Given the description of an element on the screen output the (x, y) to click on. 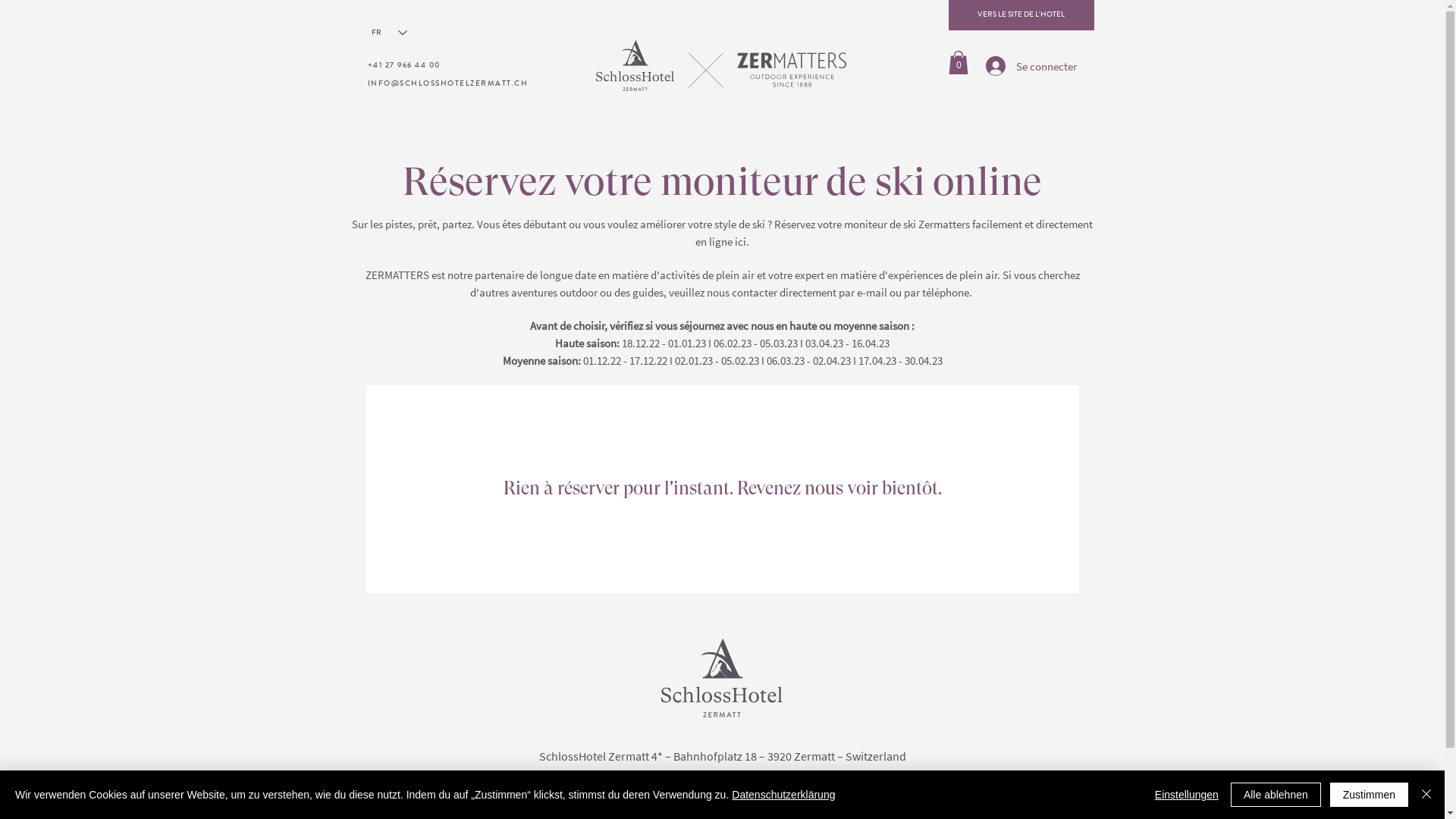
Zustimmen Element type: text (1369, 794)
0 Element type: text (957, 62)
info@schlosshotelzermatt.ch Element type: text (762, 775)
Alle ablehnen Element type: text (1275, 794)
VERS LE SITE DE L'HOTEL Element type: text (1020, 15)
Visitor Analytics Element type: hover (1442, 4)
INFO@SCHLOSSHOTELZERMATT.CH Element type: text (447, 83)
Se connecter Element type: text (1031, 65)
+41 27 966 44 00 Element type: text (403, 65)
+41 27 966 44 00 Element type: text (649, 775)
